Given the description of an element on the screen output the (x, y) to click on. 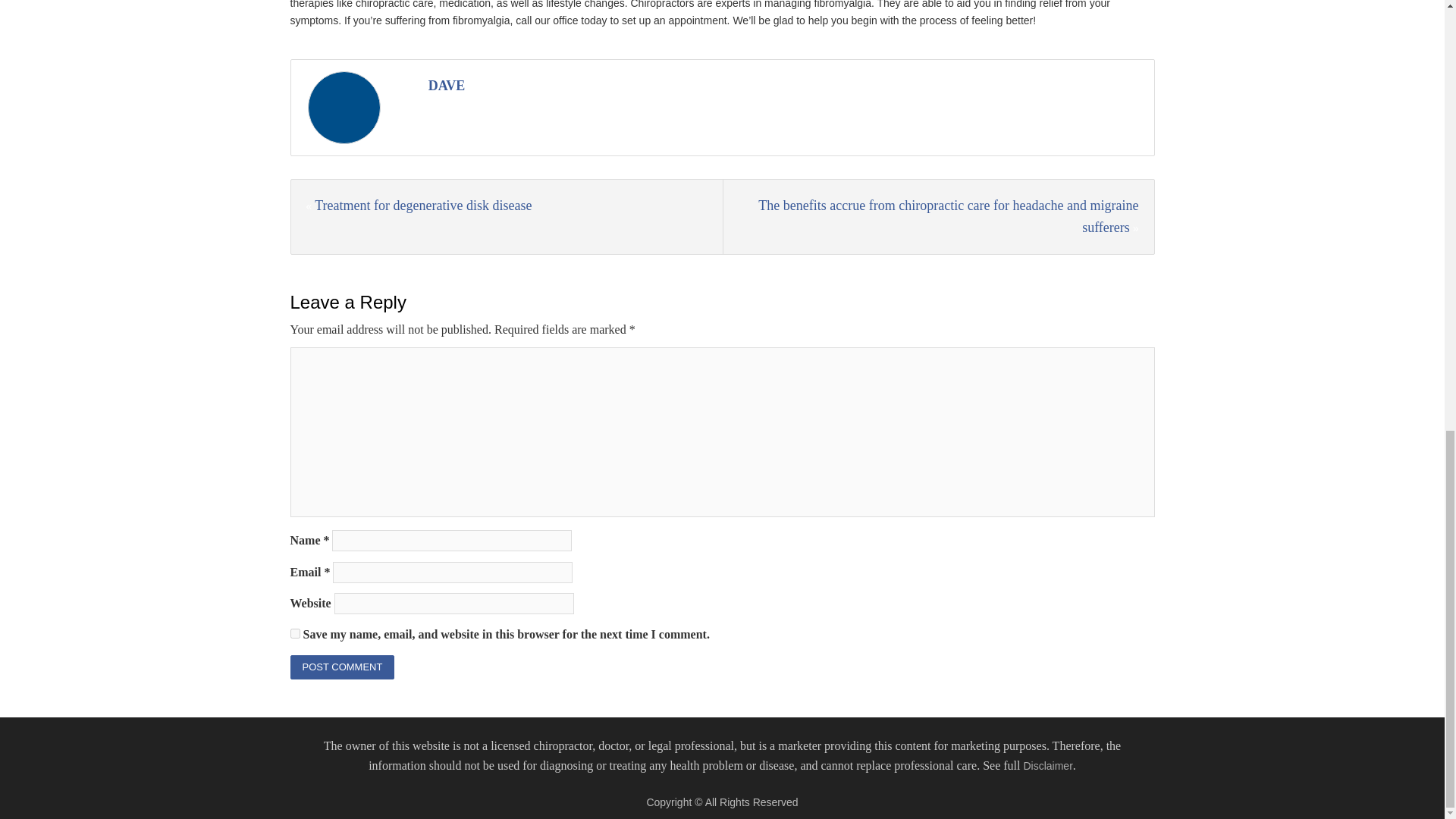
Post Comment (341, 667)
yes (294, 633)
